Given the description of an element on the screen output the (x, y) to click on. 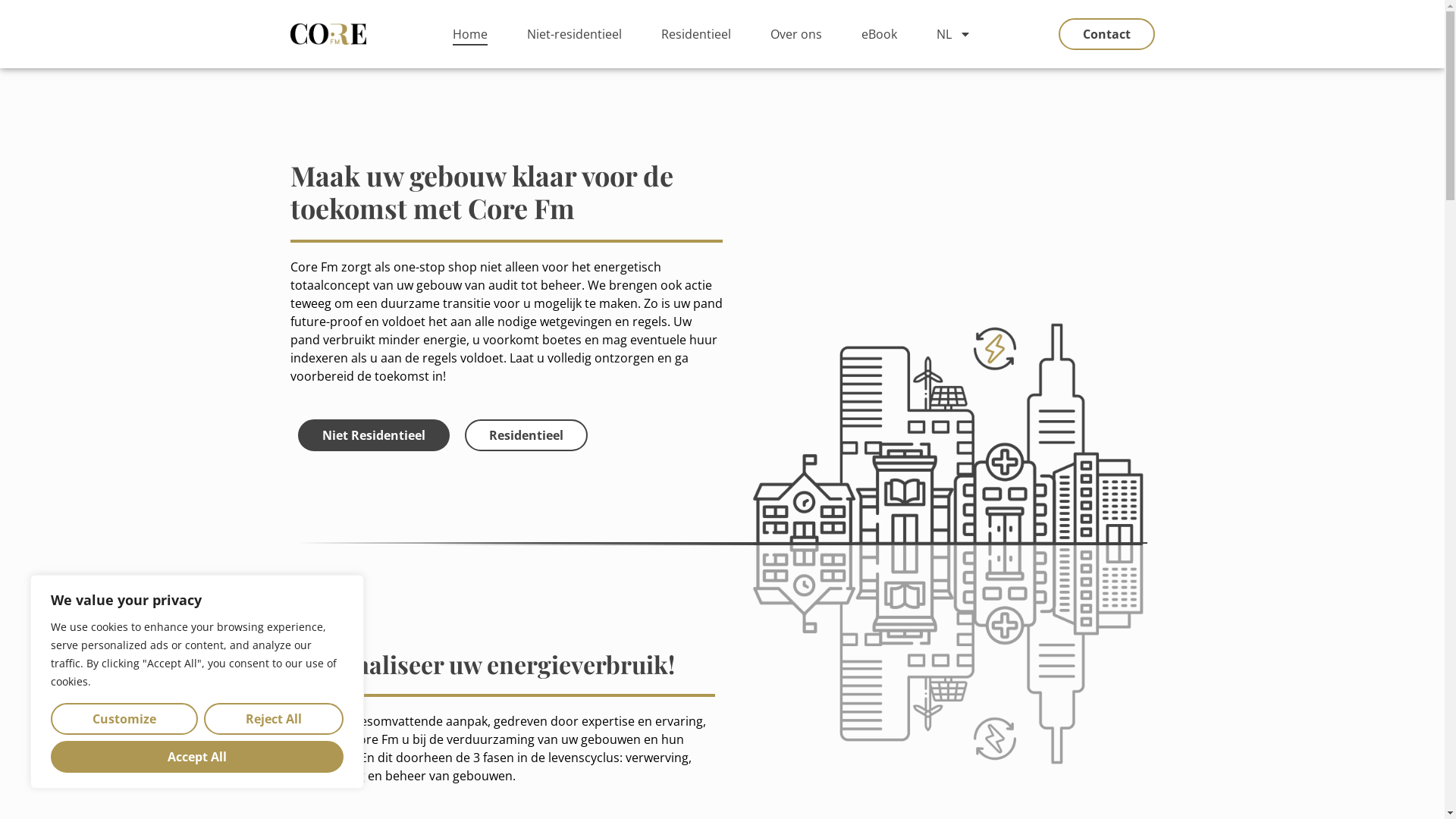
Reject All Element type: text (273, 718)
eBook Element type: text (879, 33)
Contact Element type: text (1106, 34)
Niet-residentieel Element type: text (574, 33)
Residentieel Element type: text (696, 33)
Accept All Element type: text (196, 756)
NL Element type: text (953, 33)
Niet Residentieel Element type: text (372, 435)
Home Element type: text (469, 33)
Over ons Element type: text (796, 33)
Residentieel Element type: text (525, 435)
Customize Element type: text (123, 718)
